Given the description of an element on the screen output the (x, y) to click on. 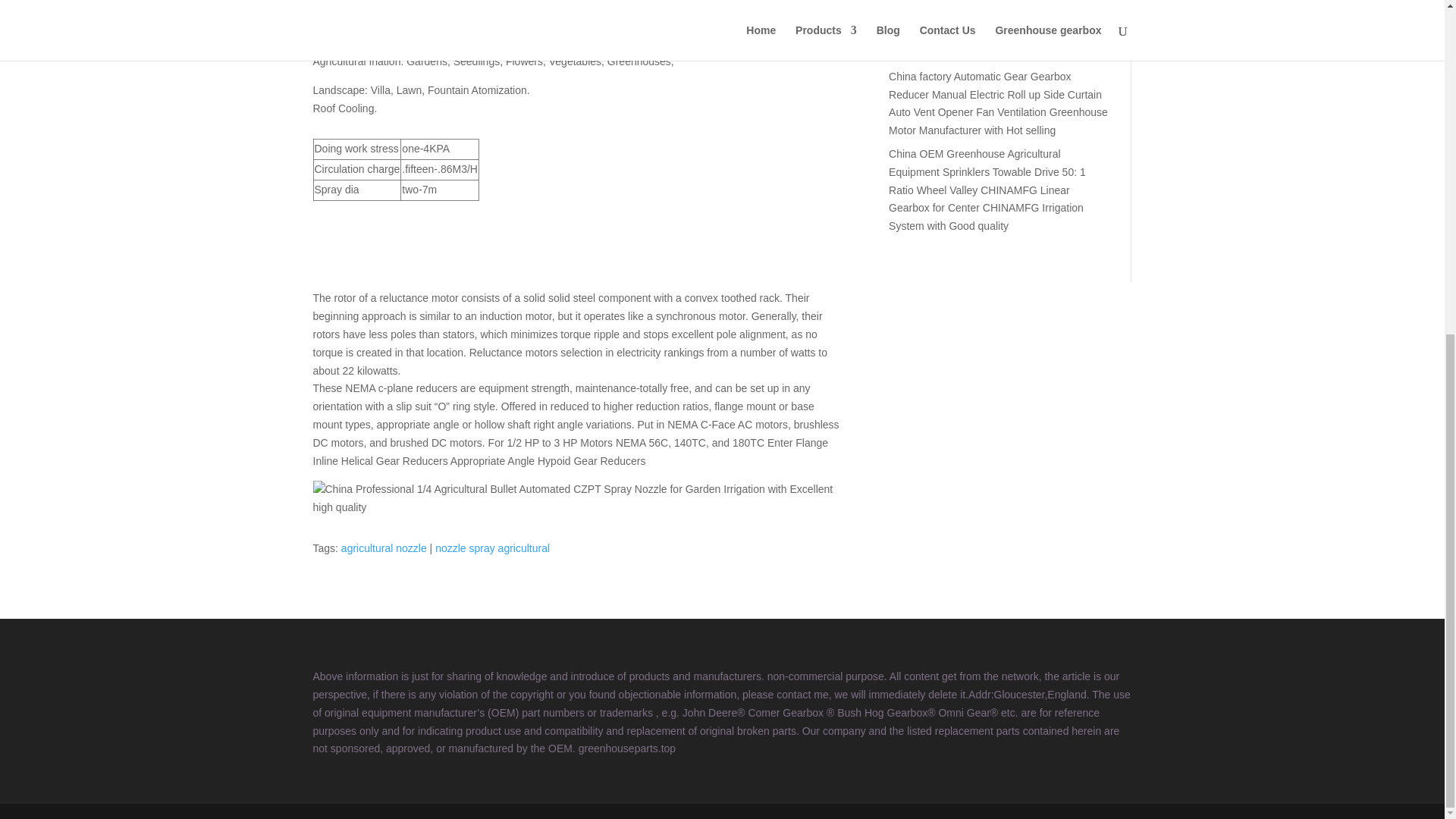
nozzle spray agricultural (492, 548)
agricultural nozzle (383, 548)
